Given the description of an element on the screen output the (x, y) to click on. 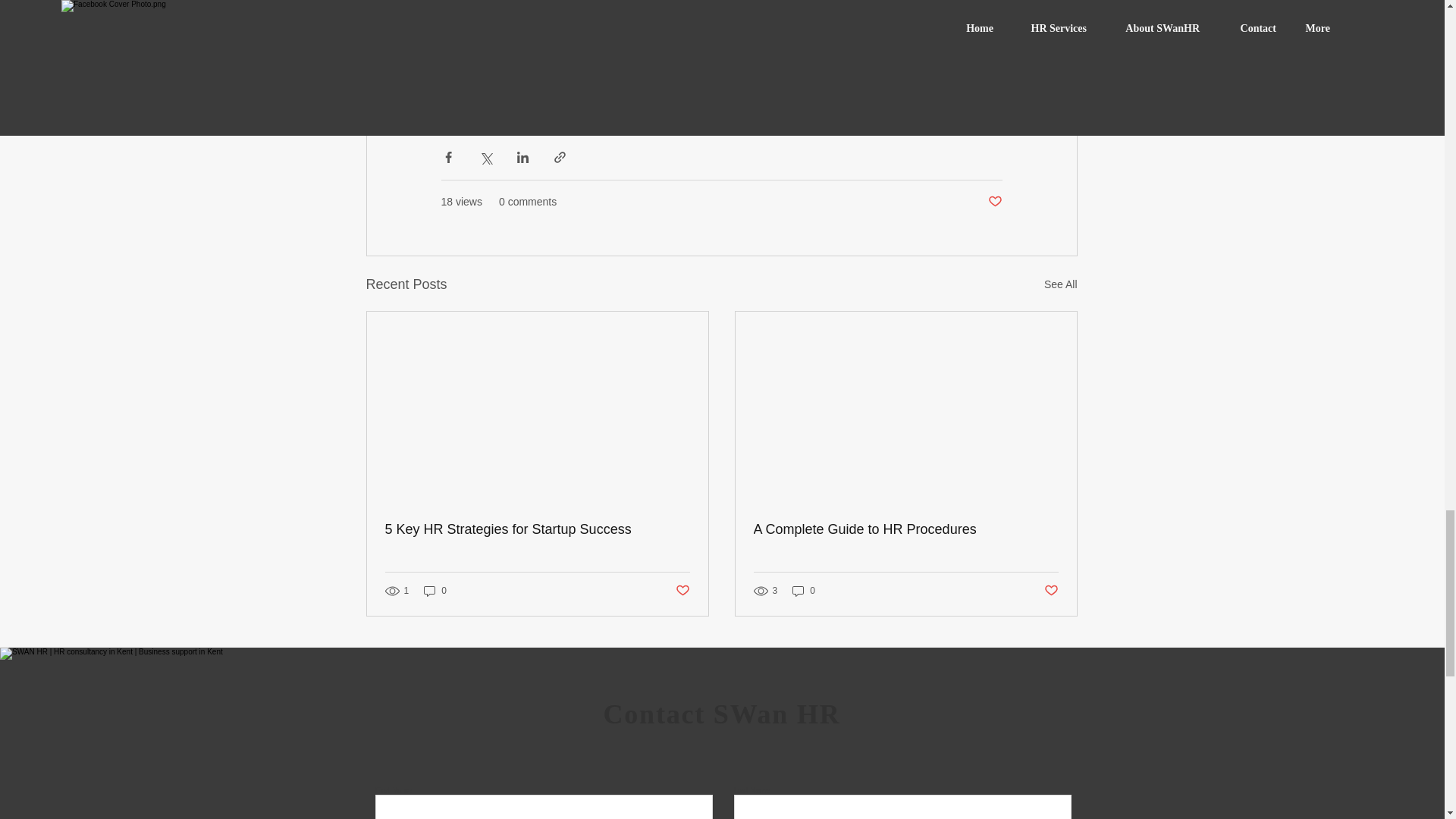
free half-hour consultation (793, 67)
5 Key HR Strategies for Startup Success (537, 529)
0 (435, 590)
A Complete Guide to HR Procedures (906, 529)
Post not marked as liked (681, 590)
Post not marked as liked (994, 201)
See All (1060, 284)
0 (803, 590)
